Given the description of an element on the screen output the (x, y) to click on. 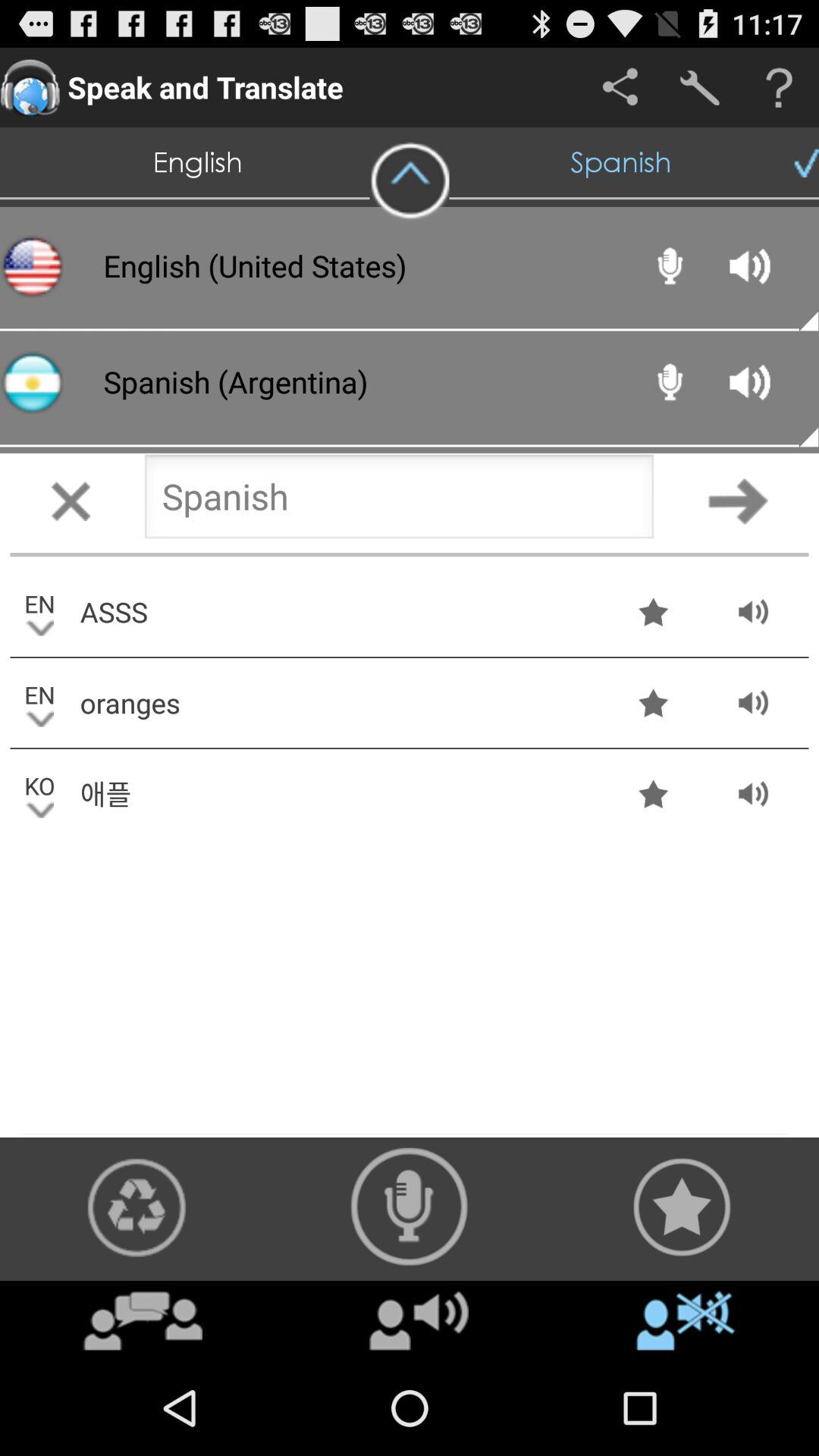
search box (399, 500)
